Given the description of an element on the screen output the (x, y) to click on. 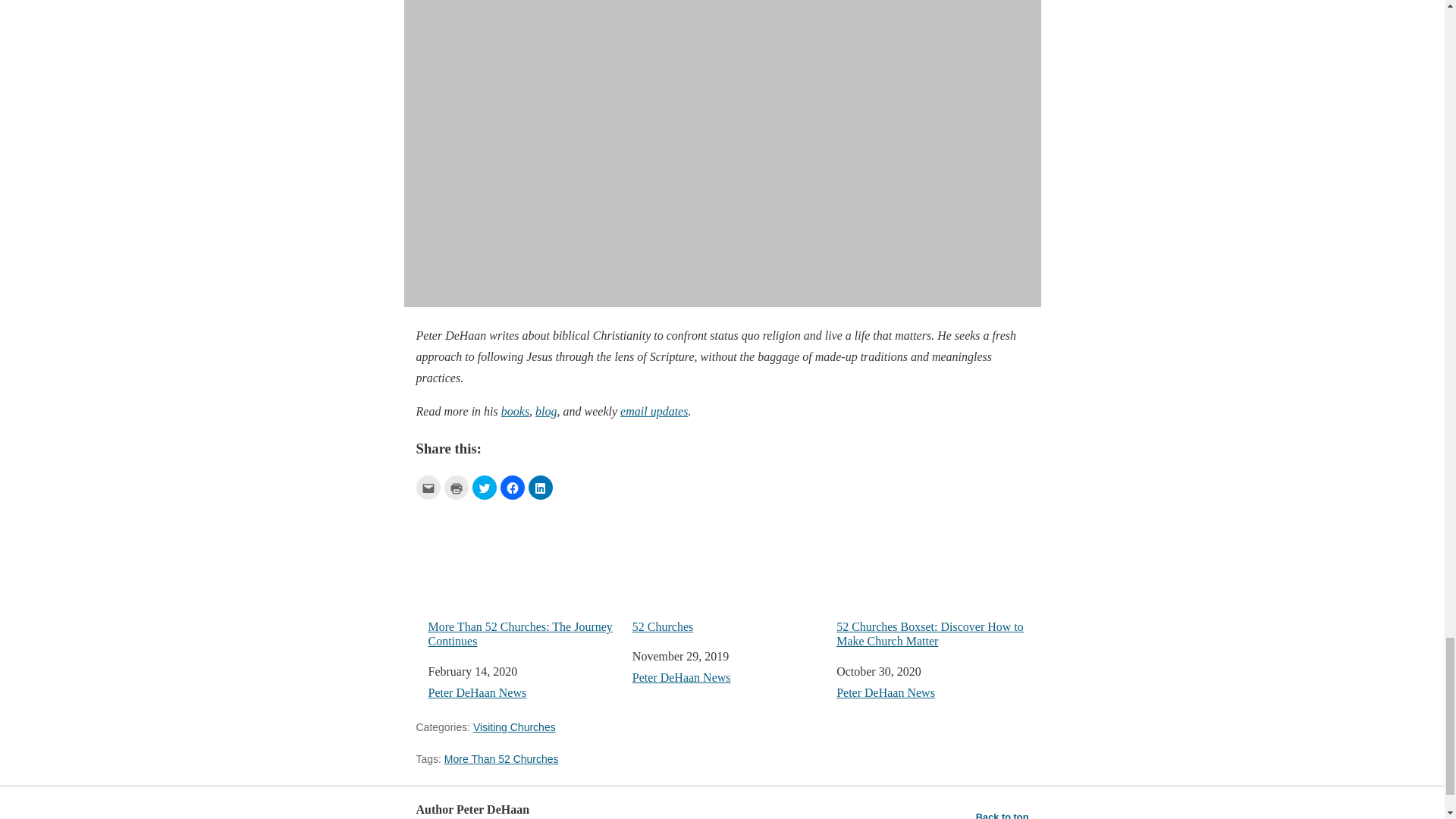
blog (545, 410)
Print (456, 487)
More Than 52 Churches: The Journey Continues (524, 575)
52 Churches (727, 568)
52 Churches Boxset: Discover How to Make Church Matter (931, 575)
Click to share on Twitter (483, 487)
Visiting Churches (514, 727)
More Than 52 Churches (501, 758)
Click to share on LinkedIn (539, 487)
Click to share on Facebook (512, 487)
